Given the description of an element on the screen output the (x, y) to click on. 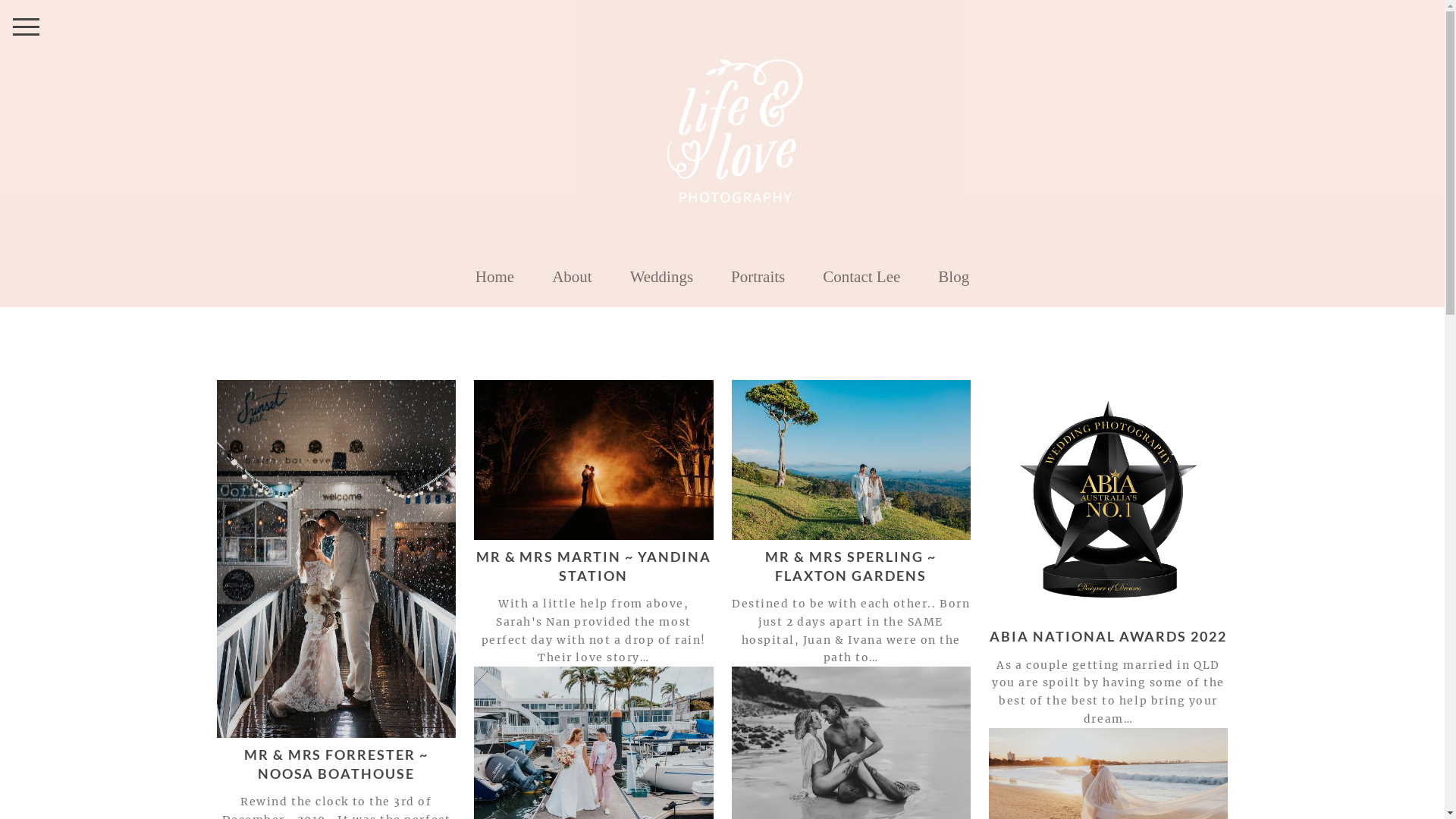
Home Element type: text (494, 276)
Blog Element type: text (953, 276)
MR & MRS SPERLING ~ FLAXTON GARDENS Element type: text (850, 565)
Mr & Mrs Sperling ~ Flaxton Gardens Element type: hover (850, 459)
Mr & Mrs Martin ~ Yandina Station Element type: hover (592, 459)
Contact Lee Element type: text (861, 276)
About Element type: text (572, 276)
ABIA NATIONAL AWARDS 2022 Element type: text (1108, 635)
ABIA National Awards 2022 Element type: hover (1107, 499)
MR & MRS MARTIN ~ YANDINA STATION Element type: text (594, 565)
MR & MRS FORRESTER ~ NOOSA BOATHOUSE Element type: text (336, 763)
Mr & Mrs Forrester ~ Noosa Boathouse Element type: hover (335, 558)
Portraits Element type: text (757, 276)
Weddings Element type: text (661, 276)
